Given the description of an element on the screen output the (x, y) to click on. 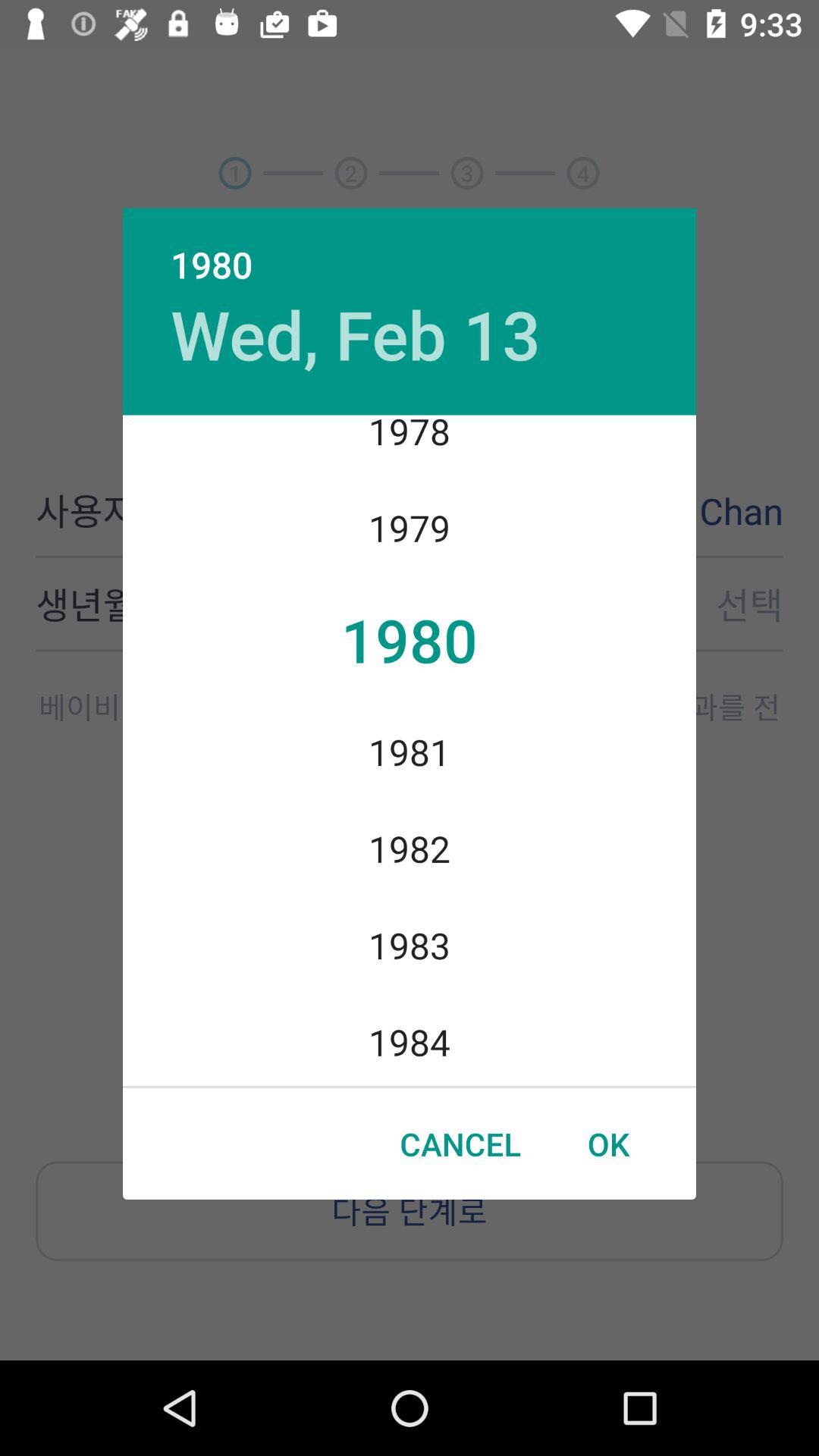
turn on the item below 1984 icon (608, 1143)
